Given the description of an element on the screen output the (x, y) to click on. 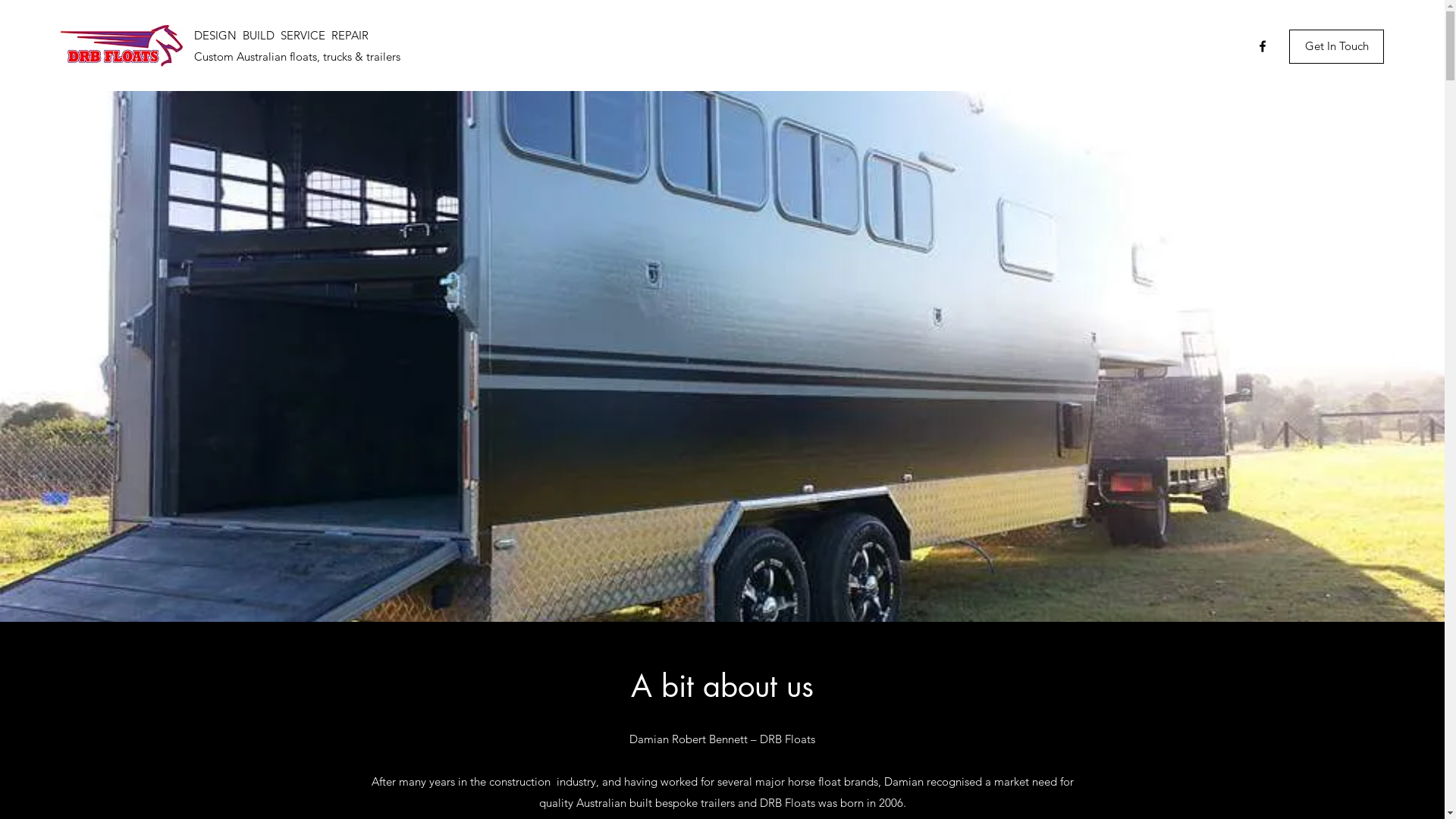
Get In Touch Element type: text (1336, 46)
